Given the description of an element on the screen output the (x, y) to click on. 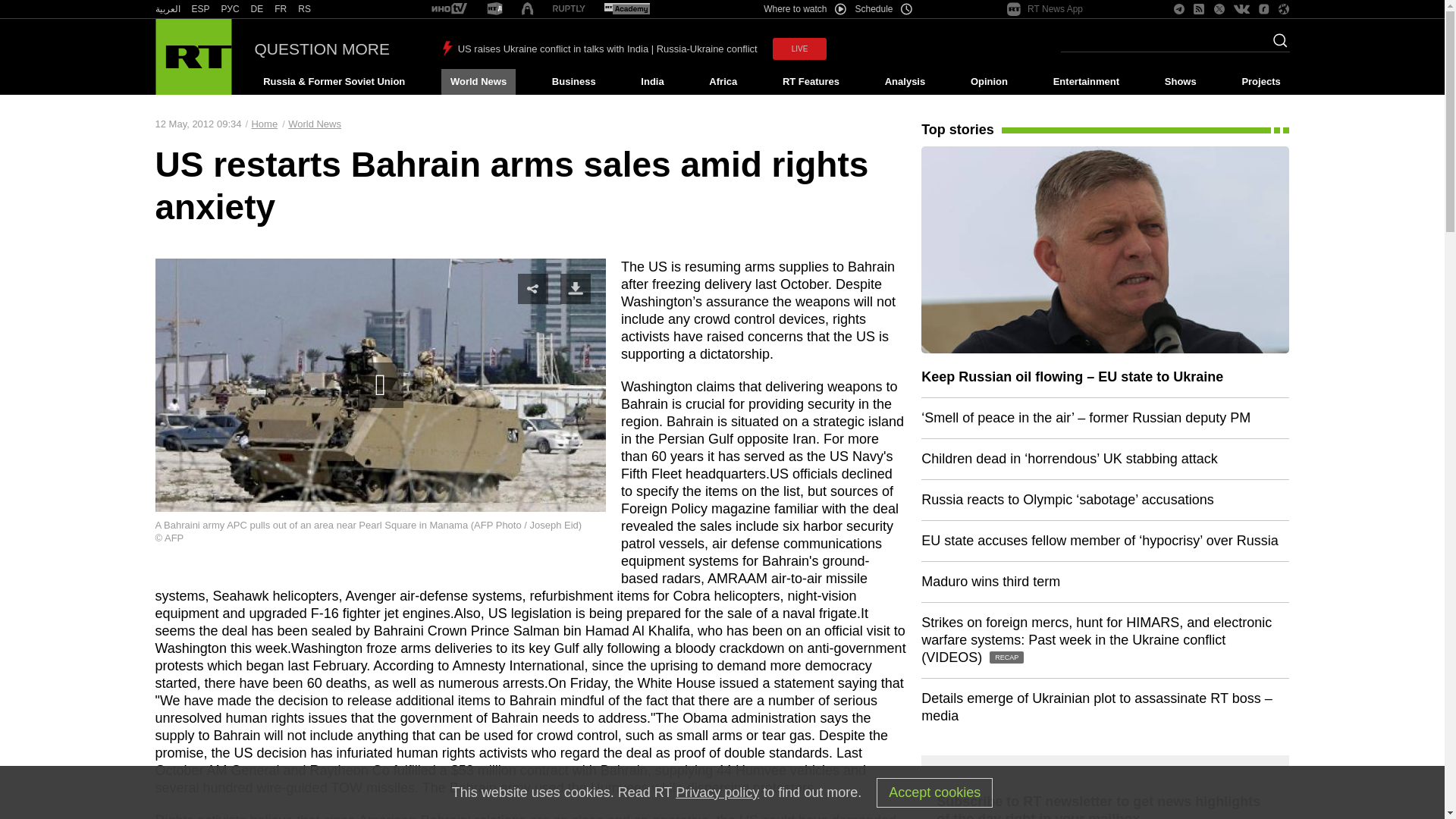
QUESTION MORE (322, 48)
Search (1276, 44)
Projects (1261, 81)
RT  (256, 9)
RS (304, 9)
Schedule (884, 9)
RT  (304, 9)
ESP (199, 9)
DE (256, 9)
Africa (722, 81)
FR (280, 9)
RT  (230, 9)
RT  (166, 9)
LIVE (800, 48)
India (651, 81)
